Given the description of an element on the screen output the (x, y) to click on. 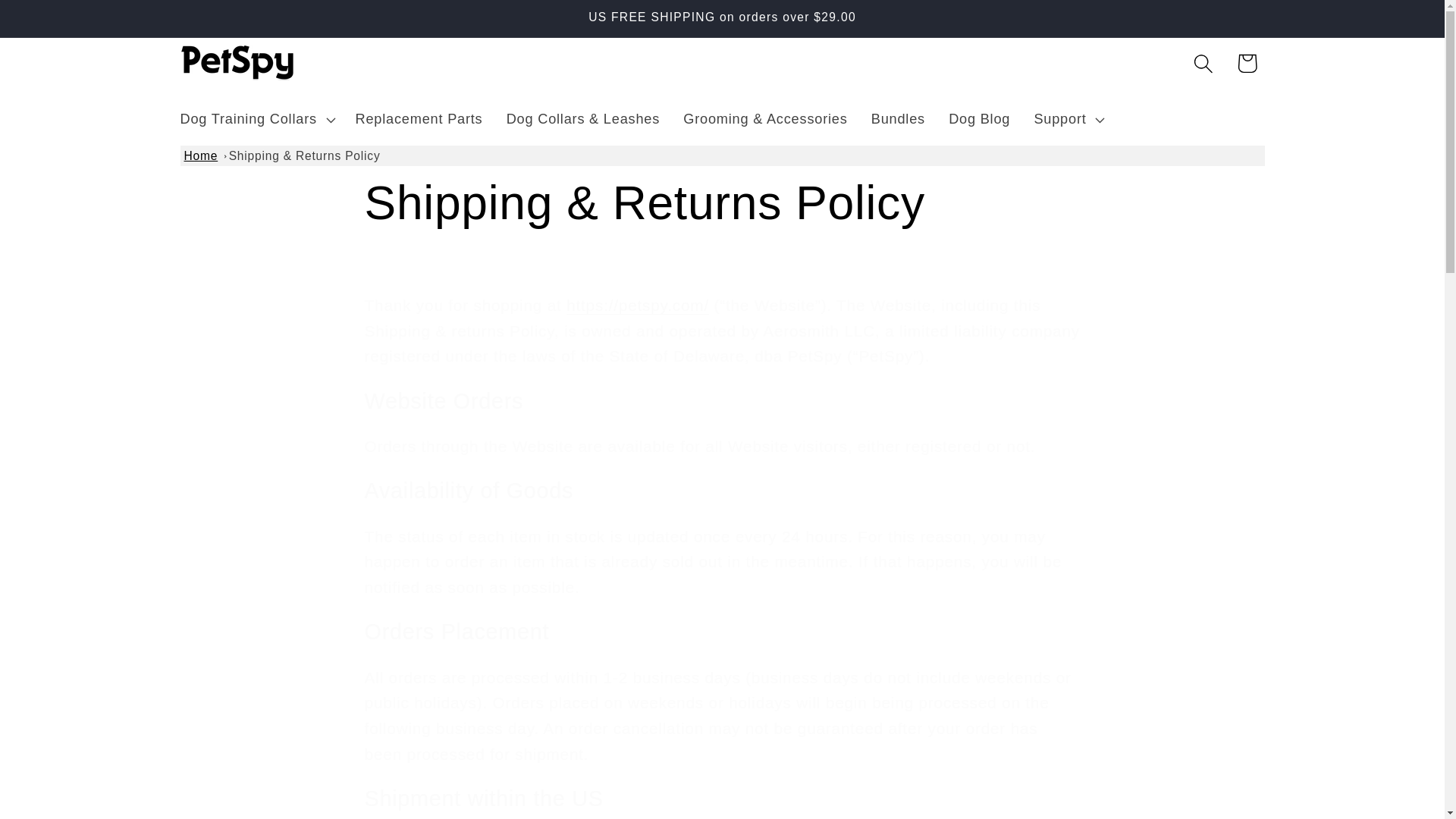
Bundles (897, 119)
Skip to content (61, 24)
Replacement Parts (419, 119)
Cart (1246, 63)
Dog Blog (979, 119)
